Given the description of an element on the screen output the (x, y) to click on. 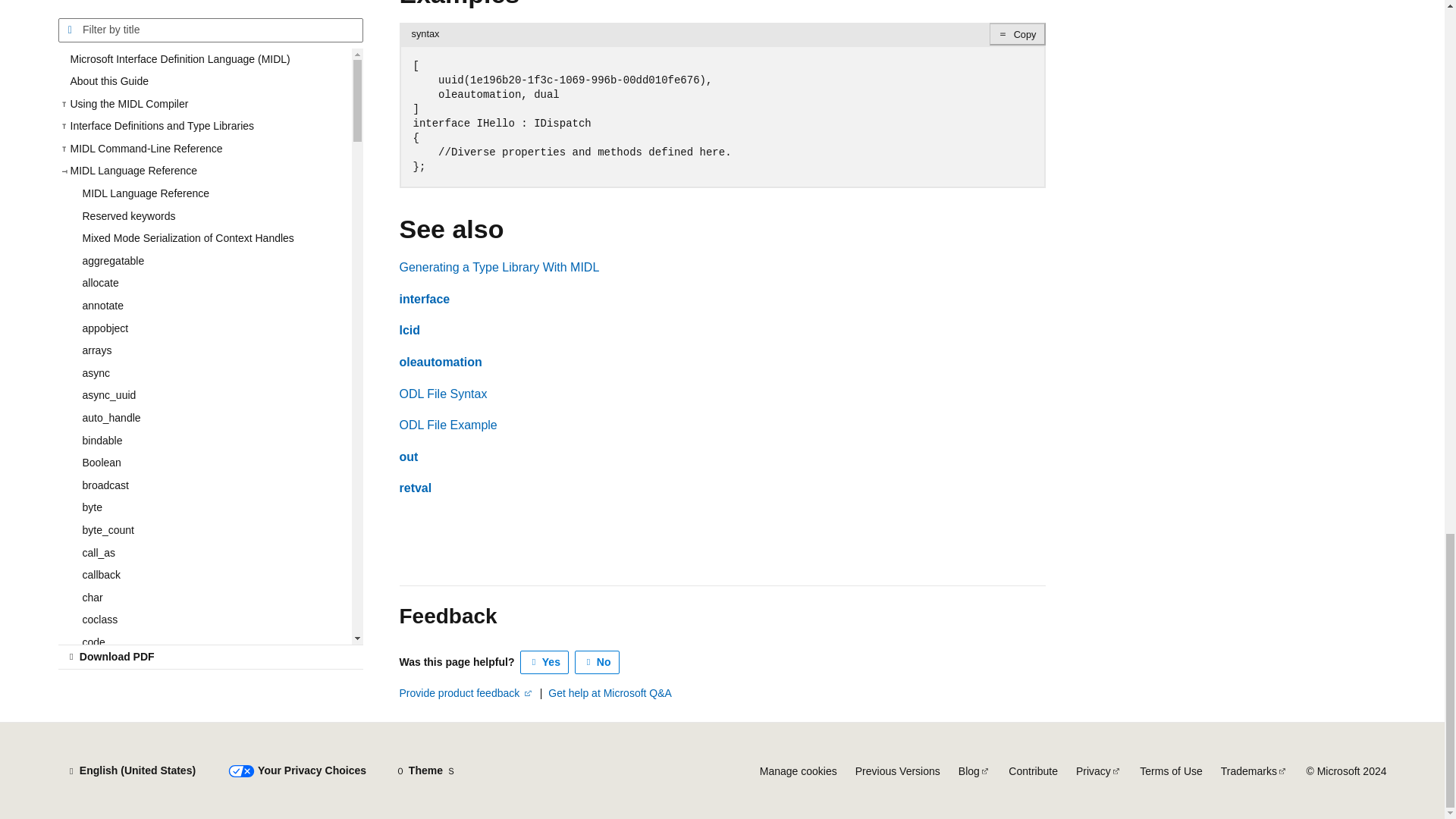
This article is not helpful (597, 662)
This article is helpful (544, 662)
Theme (425, 770)
